Given the description of an element on the screen output the (x, y) to click on. 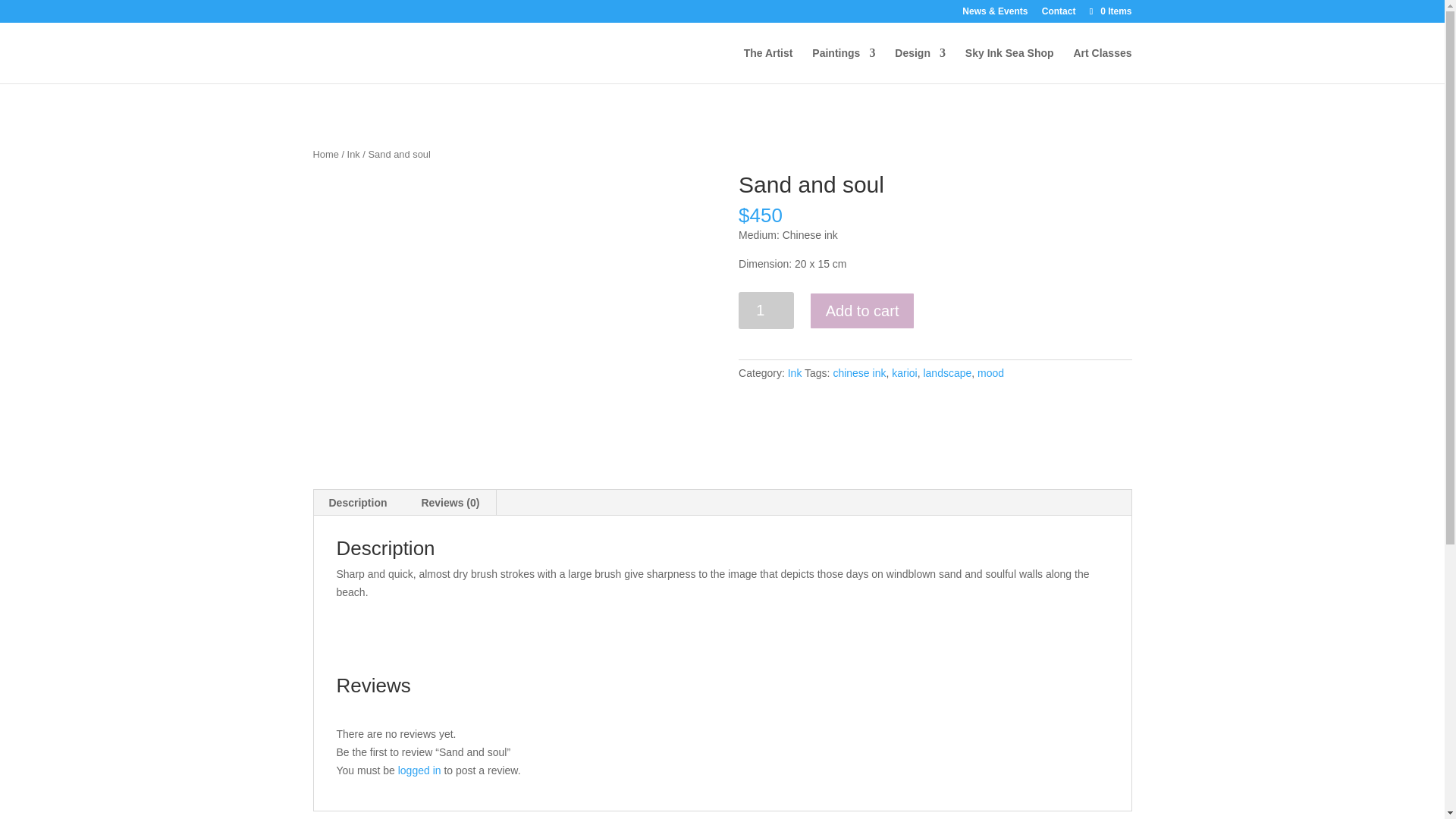
The Artist (768, 65)
1 (765, 310)
Qty (765, 310)
Ink (353, 153)
Paintings (843, 65)
0 Items (1108, 10)
mood (990, 372)
Description (358, 502)
Sky Ink Sea Shop (1009, 65)
Add to cart (862, 310)
